Given the description of an element on the screen output the (x, y) to click on. 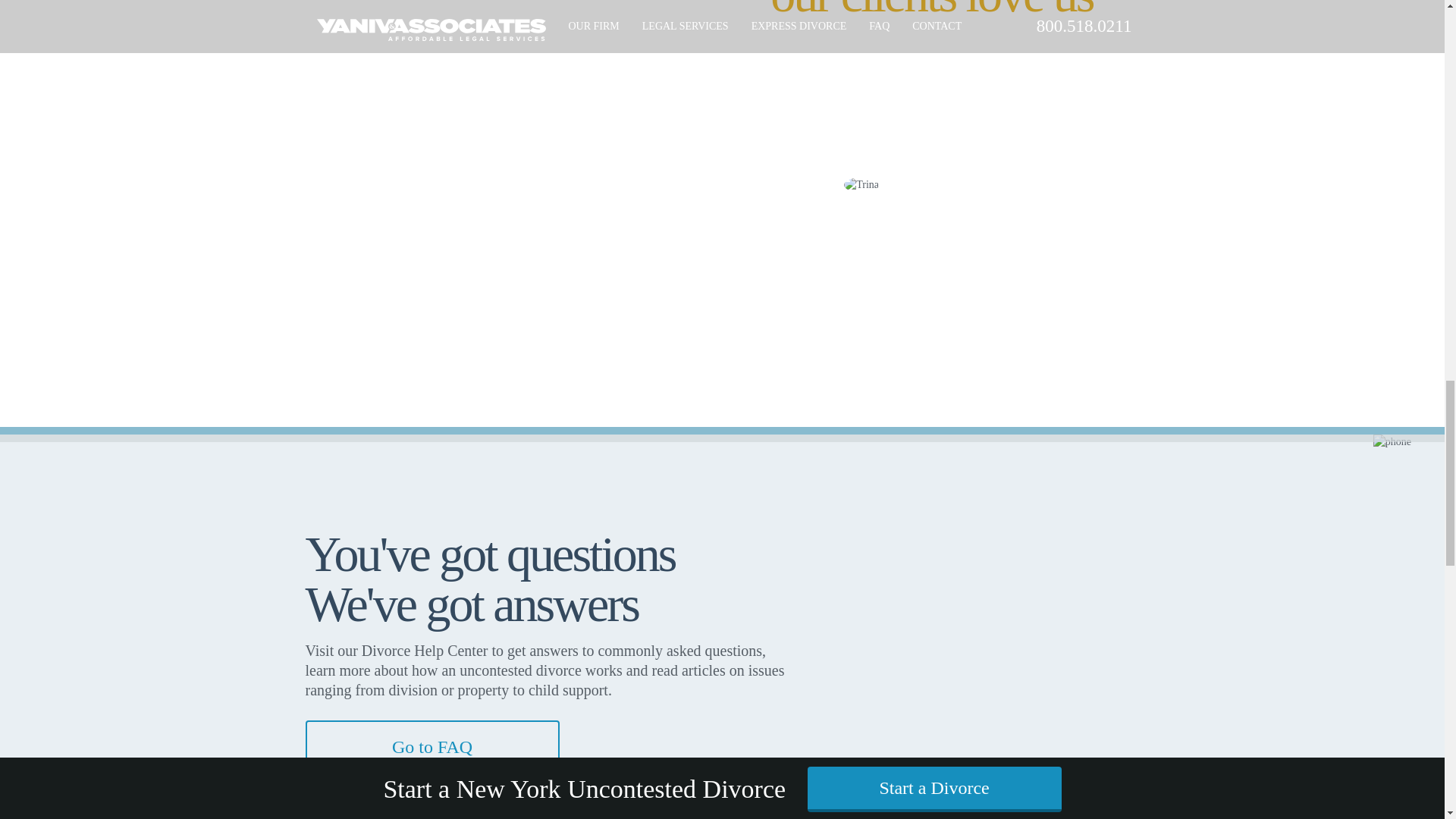
Go to FAQ (431, 745)
Play (547, 435)
